Given the description of an element on the screen output the (x, y) to click on. 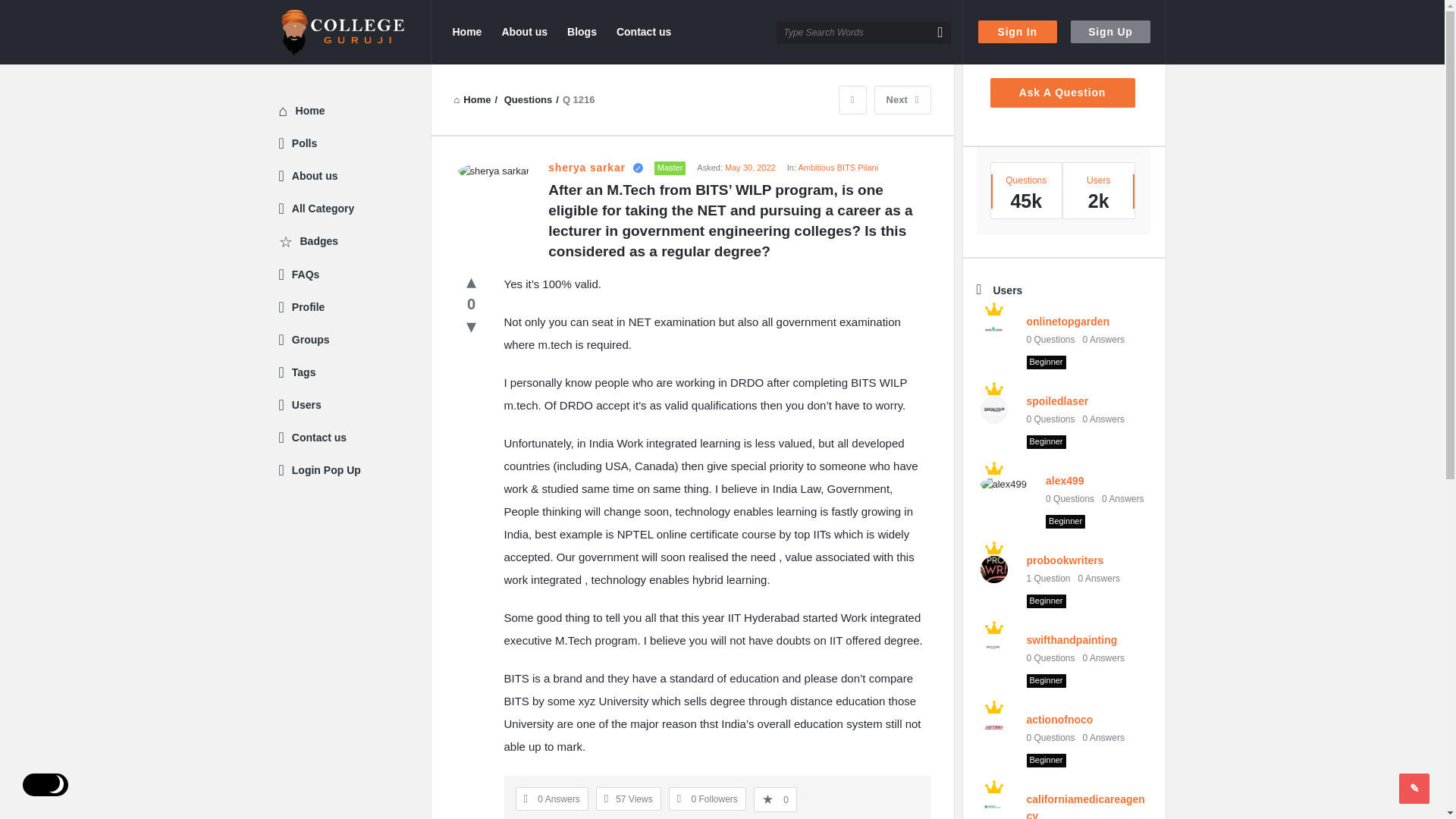
alex499 (1003, 484)
Questions (528, 99)
Blogs (581, 32)
Sign In (1017, 31)
Follow the question (707, 798)
Add this question to favorites (775, 799)
About us (524, 32)
College Guruji (354, 32)
probookwriters (994, 569)
College Guruji (343, 32)
Home (466, 32)
Contact us (643, 32)
sherya sarkar (492, 170)
Sign Up (1110, 31)
Home (471, 99)
